Given the description of an element on the screen output the (x, y) to click on. 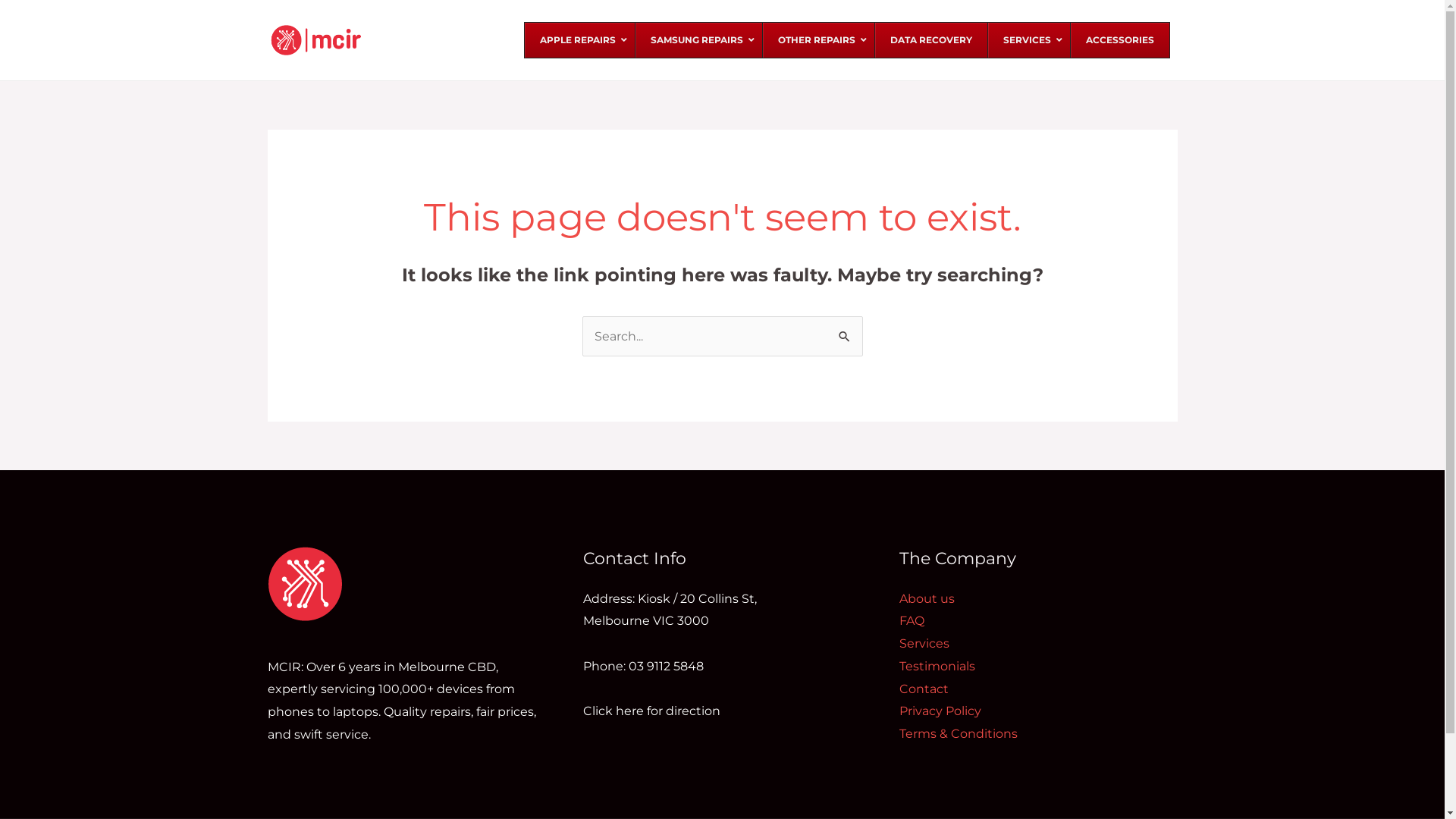
Contact Element type: text (923, 688)
DATA RECOVERY Element type: text (929, 39)
Services Element type: text (924, 643)
Click here for direction Element type: text (651, 721)
Address: Kiosk / 20 Collins St,
Melbourne VIC 3000 Element type: text (669, 609)
SERVICES Element type: text (1028, 39)
FAQ Element type: text (911, 620)
Privacy Policy Element type: text (940, 710)
Phone: 03 9112 5848 Element type: text (643, 677)
Testimonials Element type: text (937, 665)
ACCESSORIES Element type: text (1118, 39)
About us Element type: text (926, 598)
SAMSUNG REPAIRS Element type: text (697, 39)
OTHER REPAIRS Element type: text (817, 39)
Search Element type: text (845, 330)
APPLE REPAIRS Element type: text (579, 39)
Terms & Conditions Element type: text (958, 733)
